Given the description of an element on the screen output the (x, y) to click on. 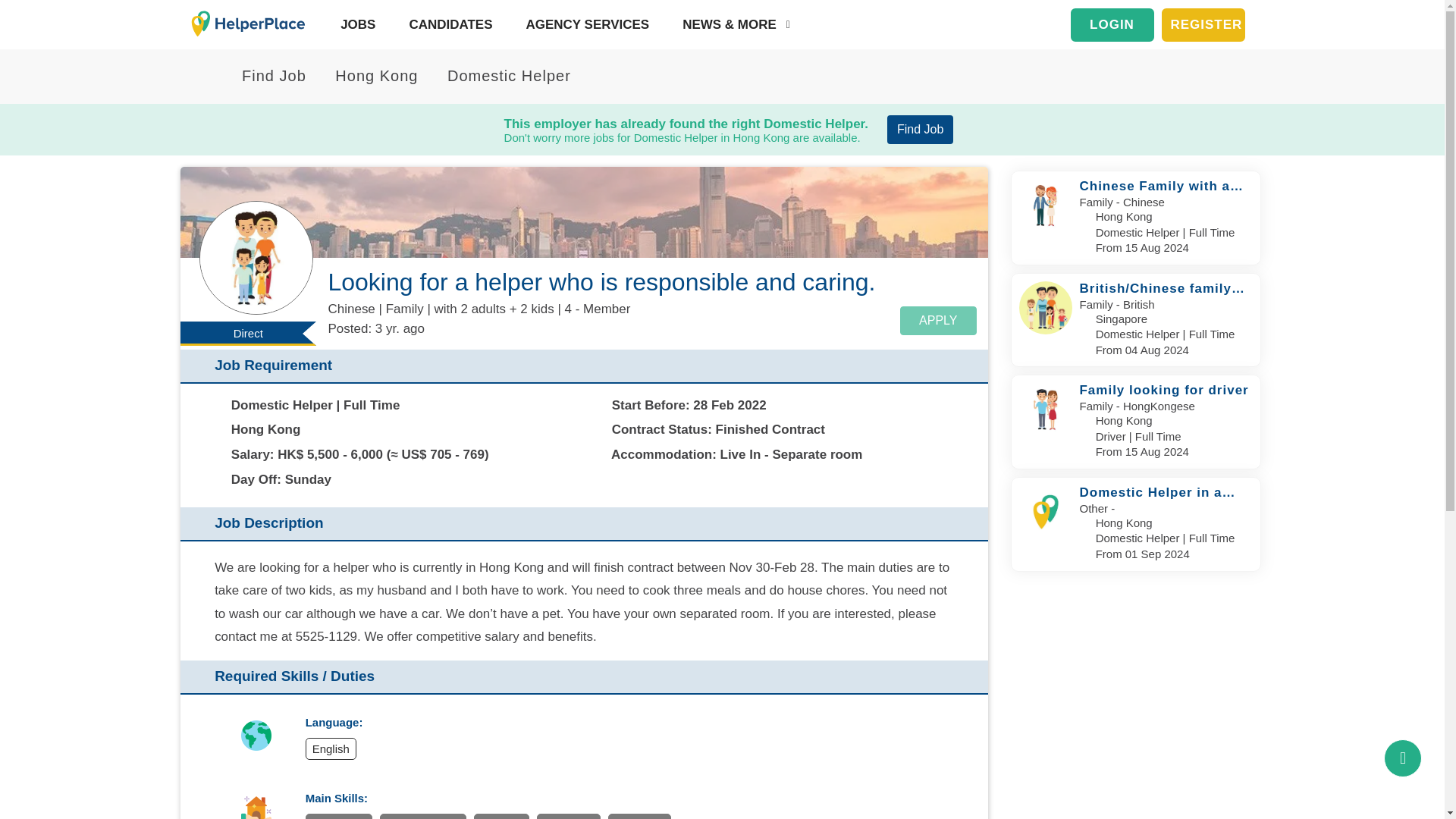
Hong Kong (368, 75)
Domestic Helper (499, 75)
AGENCY SERVICES (583, 24)
CANDIDATES (446, 24)
Find Job (919, 129)
APPLY (937, 320)
REGISTER (1202, 23)
LOGIN (1112, 23)
Find Job (264, 75)
JOBS (354, 24)
